Given the description of an element on the screen output the (x, y) to click on. 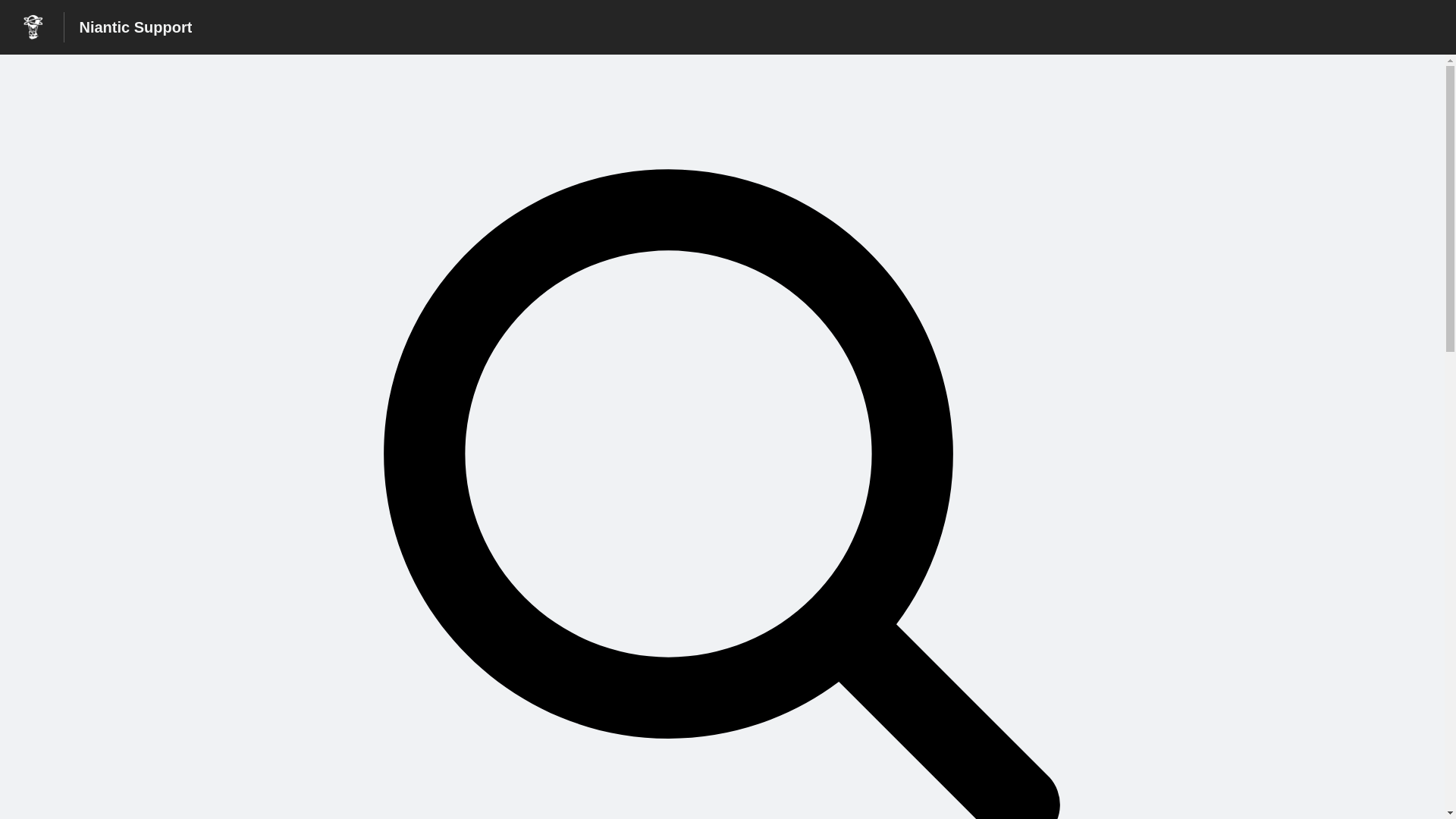
Niantic Support (135, 27)
